Given the description of an element on the screen output the (x, y) to click on. 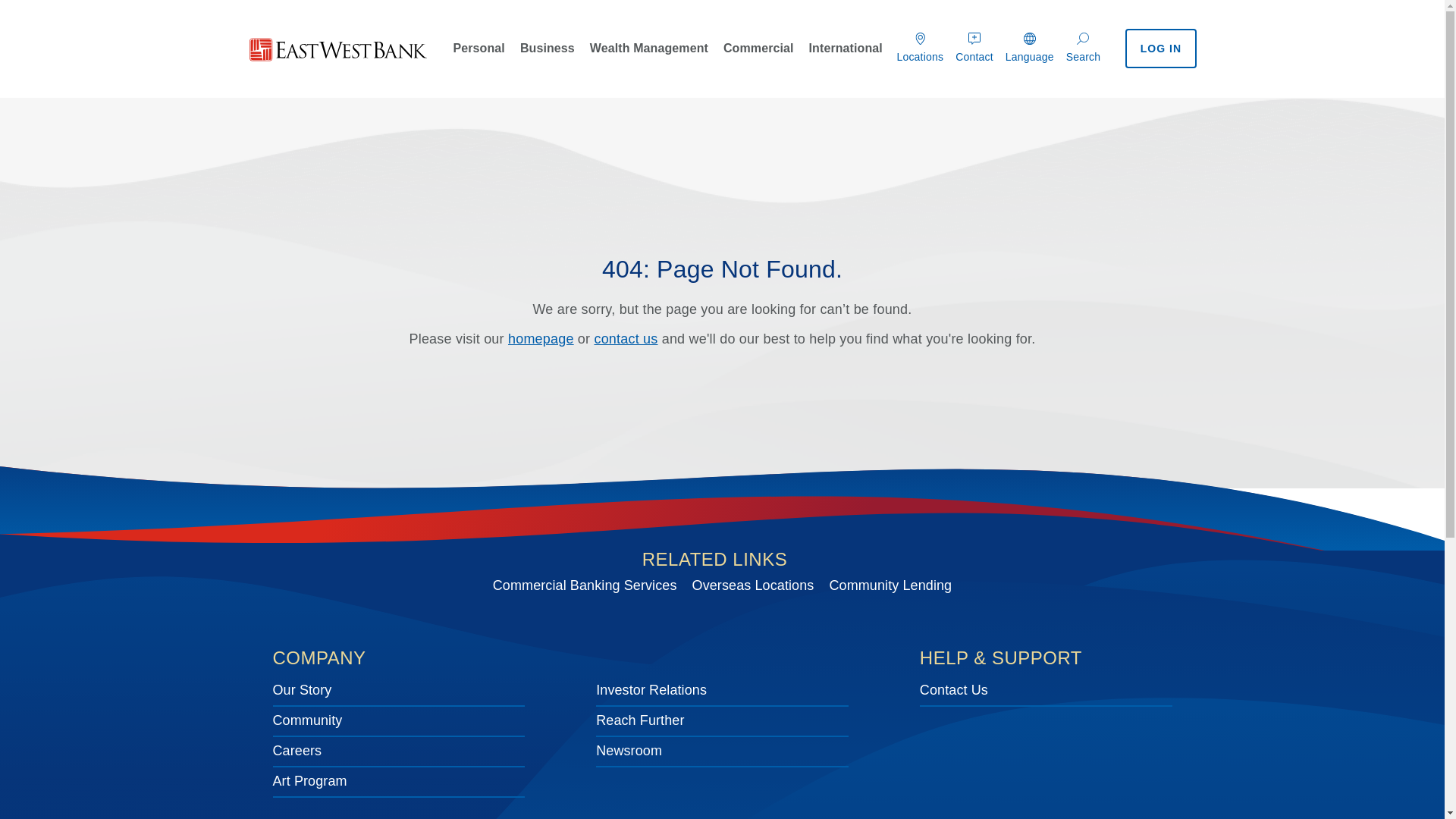
Personal (478, 52)
East West Bank (338, 49)
Personal (478, 52)
